Given the description of an element on the screen output the (x, y) to click on. 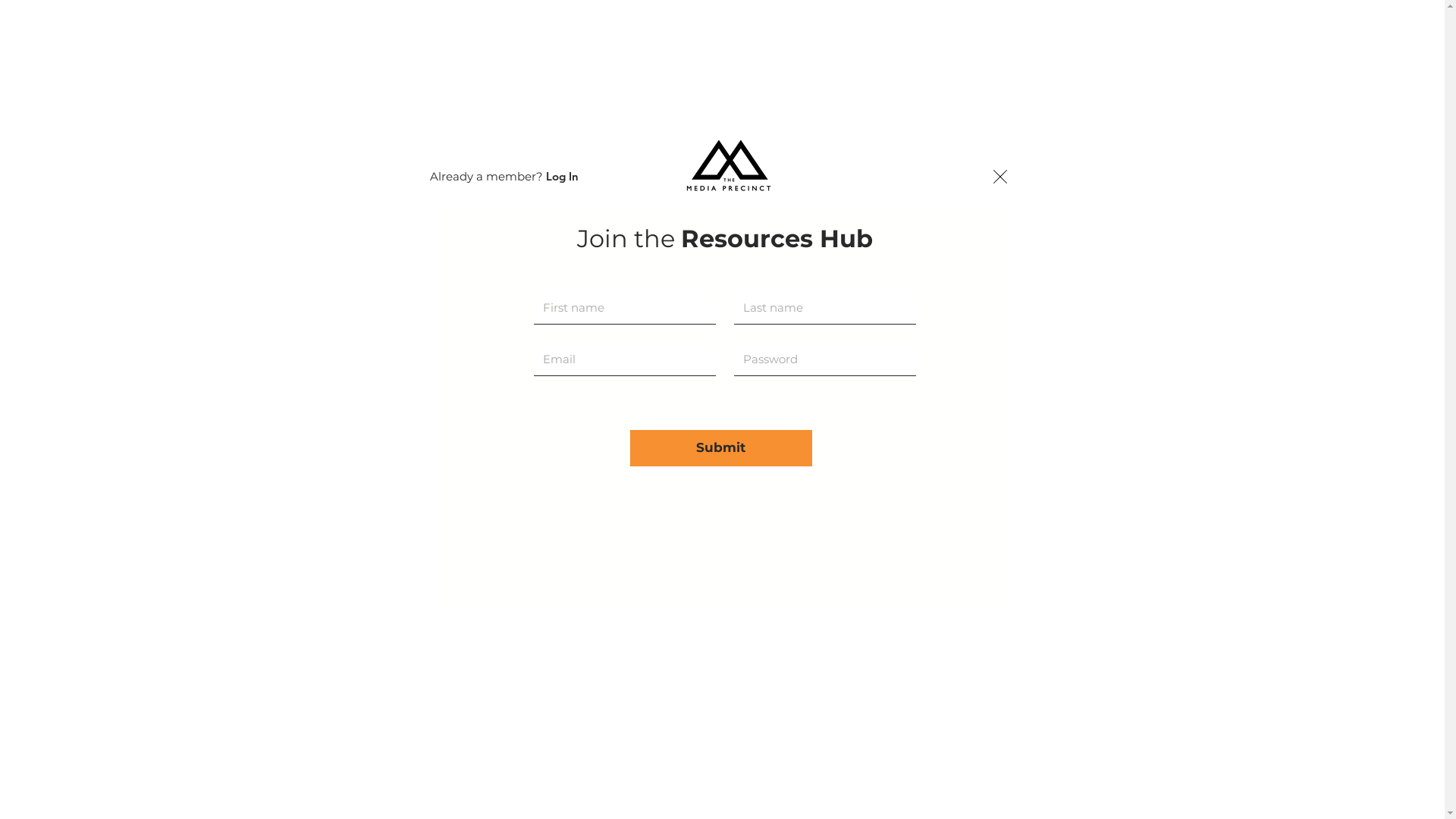
Submit Element type: text (720, 447)
Back to site Element type: hover (999, 176)
